Given the description of an element on the screen output the (x, y) to click on. 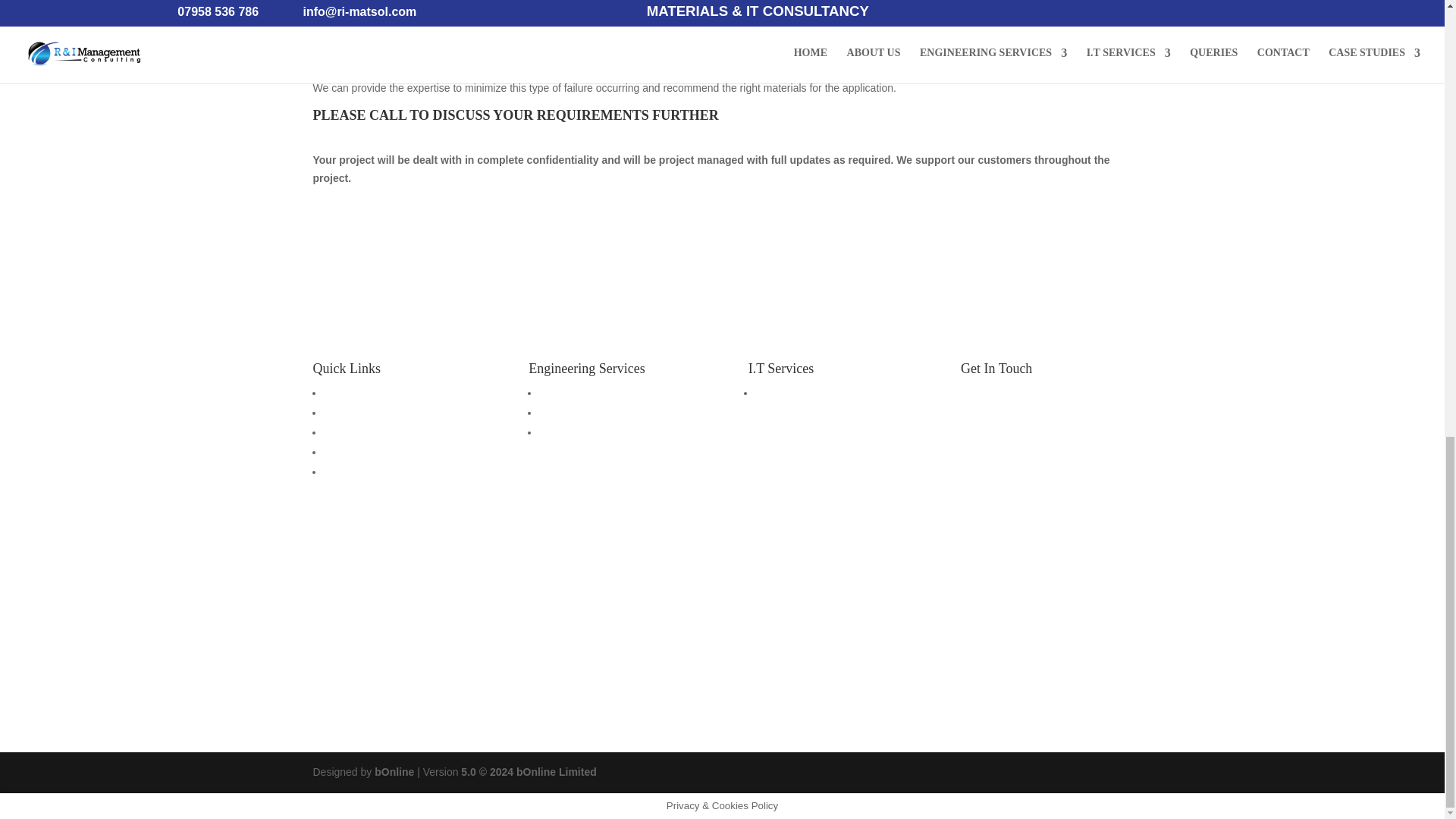
Contact (341, 471)
About Our Engineering Services (614, 392)
bOnline Company (393, 771)
Products (559, 431)
Queries (341, 451)
Home (336, 392)
bOnline (393, 771)
About Us (344, 412)
Industries We Cover (586, 412)
About Our I.T Services (808, 392)
